Given the description of an element on the screen output the (x, y) to click on. 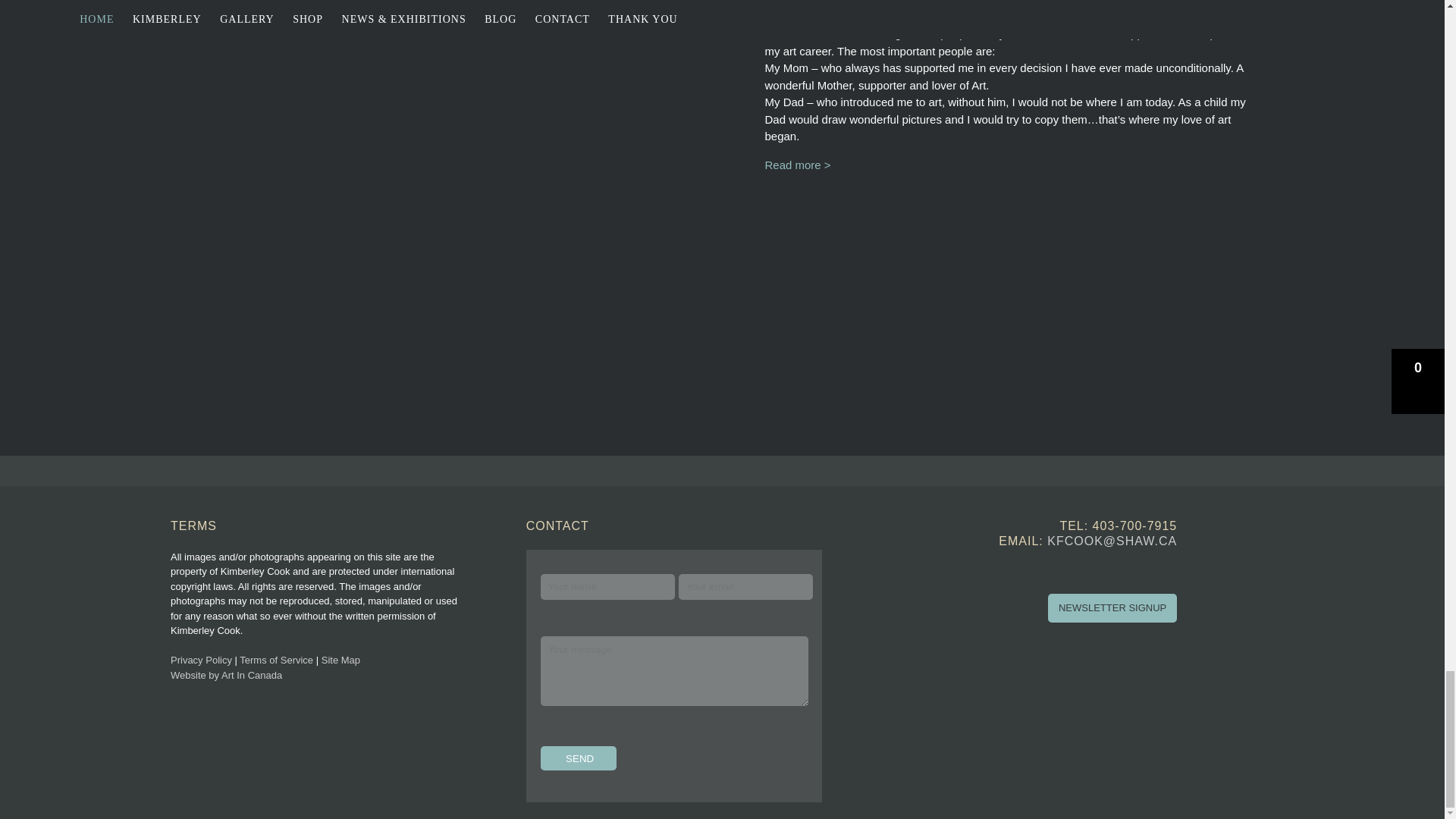
Website by Art In Canada (226, 674)
Site Map (340, 659)
NEWSLETTER SIGNUP (1112, 607)
Send (577, 758)
Send (577, 758)
Terms of Service (276, 659)
Privacy Policy (200, 659)
